Given the description of an element on the screen output the (x, y) to click on. 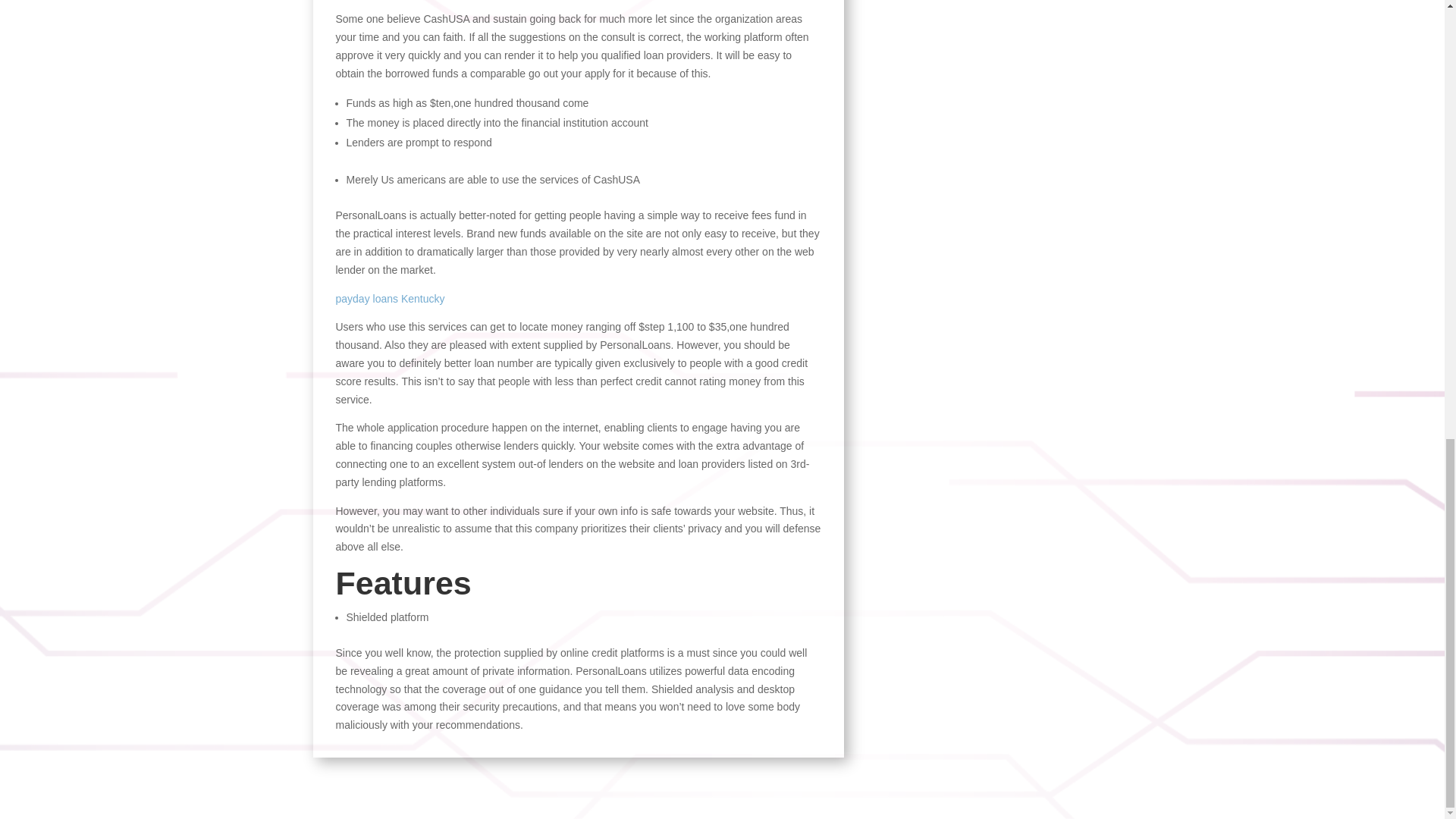
payday loans Kentucky (389, 298)
